Given the description of an element on the screen output the (x, y) to click on. 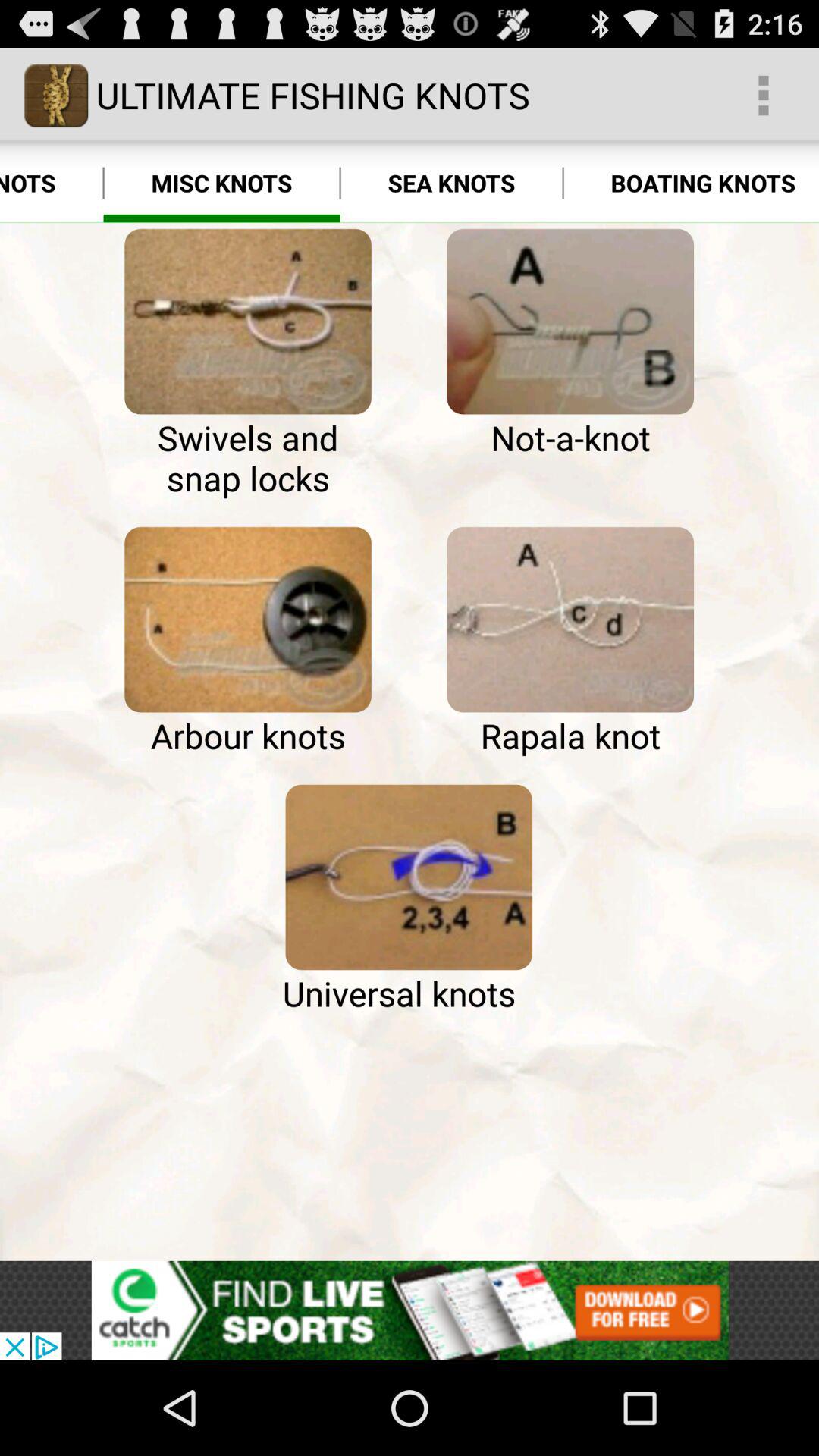
click not-a-knot option (570, 321)
